Given the description of an element on the screen output the (x, y) to click on. 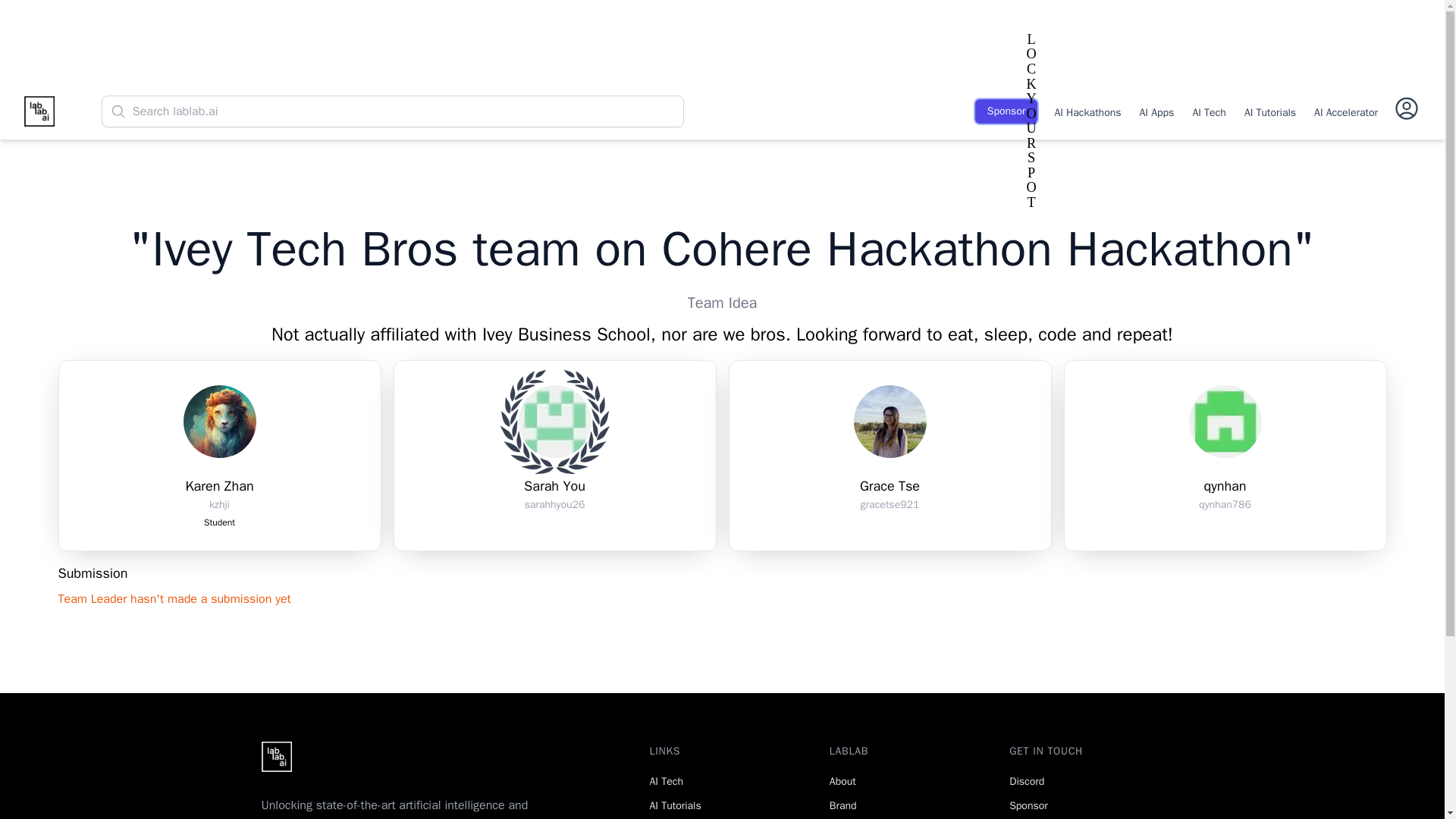
Brand (843, 805)
Sponsor (1028, 805)
Sponsor (1006, 111)
AI Tutorials (1269, 111)
AI Tech (665, 780)
AI Accelerator (1345, 111)
AI Tech (1208, 111)
AI Tutorials (674, 805)
AI Apps (1157, 111)
Discord (1026, 780)
About (842, 780)
AI Hackathons (1087, 111)
